Given the description of an element on the screen output the (x, y) to click on. 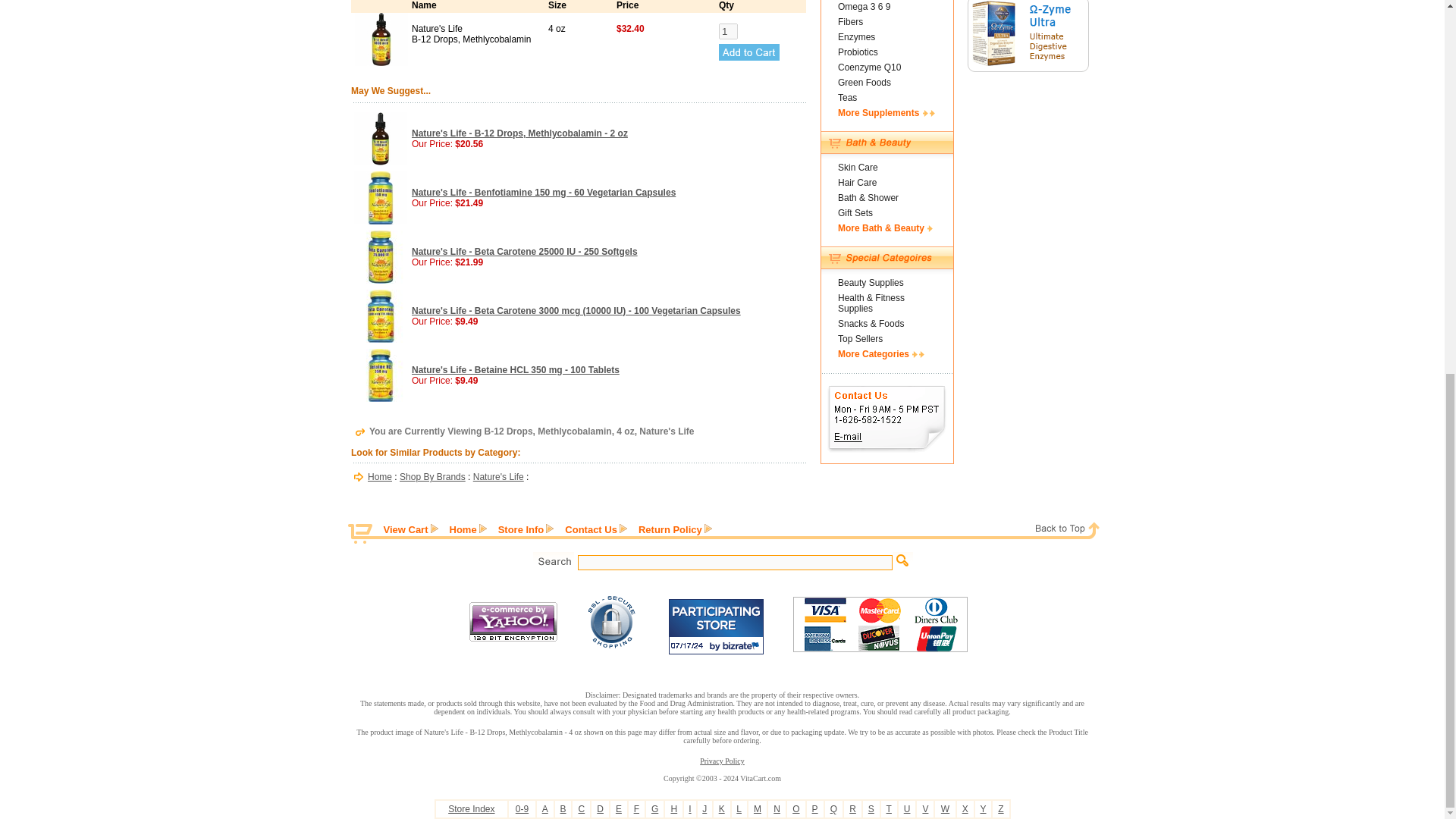
Nature's Life - B-12 Drops, Methlycobalamin - 2 oz (519, 132)
Shop By Brands (431, 476)
Nature's Life - Beta Carotene 25000 IU - 250 Softgels (524, 251)
Home (379, 476)
Nature's Life - Benfotiamine 150 mg - 60 Vegetarian Capsules (543, 192)
1 (728, 31)
Nature's Life (498, 476)
Nature's Life - Betaine HCL 350 mg - 100 Tablets (516, 369)
